Given the description of an element on the screen output the (x, y) to click on. 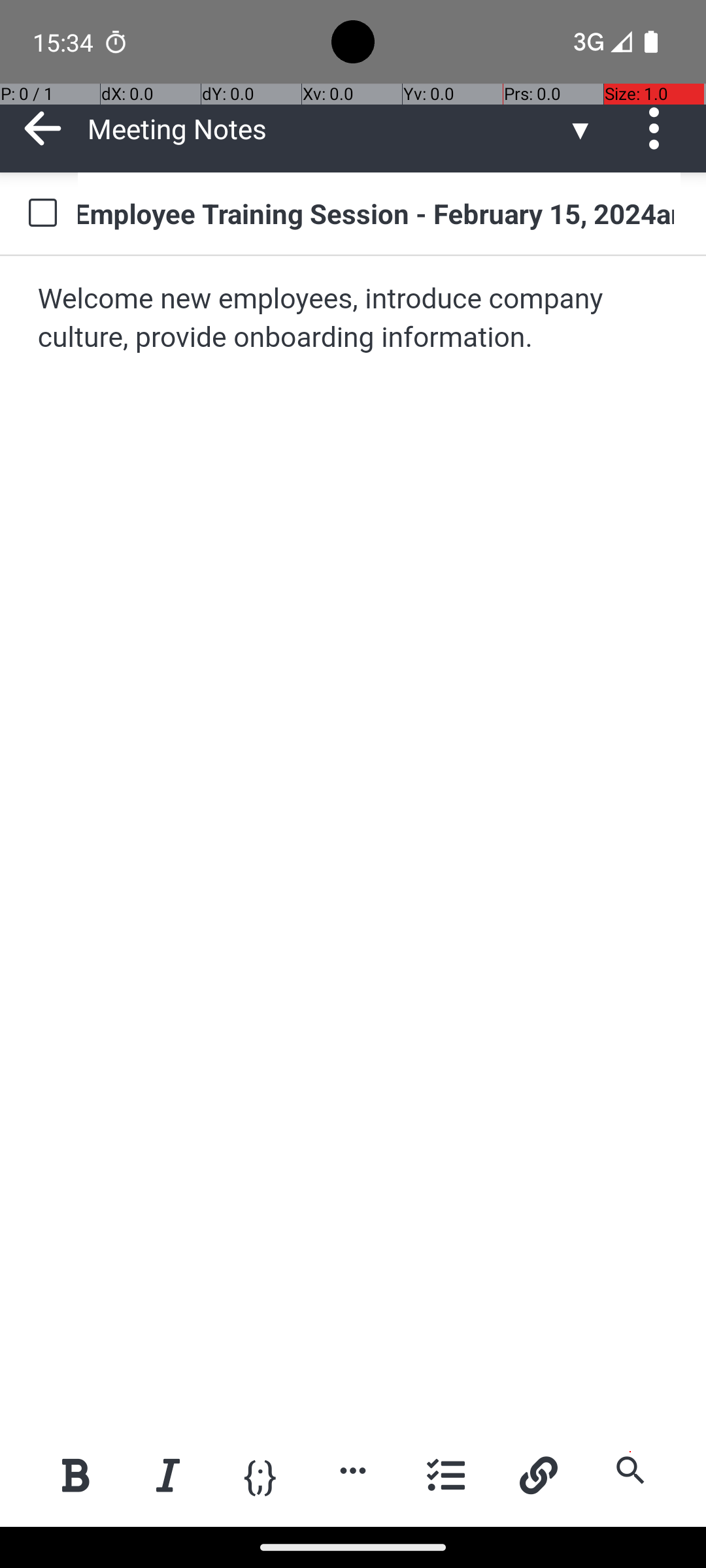
New Hire Orientation - JEmployee Training Session - February 15, 2024anuary 10, 2024 Element type: android.widget.EditText (378, 213)
Welcome new employees, introduce company culture, provide onboarding information. Element type: android.widget.EditText (354, 318)
